Given the description of an element on the screen output the (x, y) to click on. 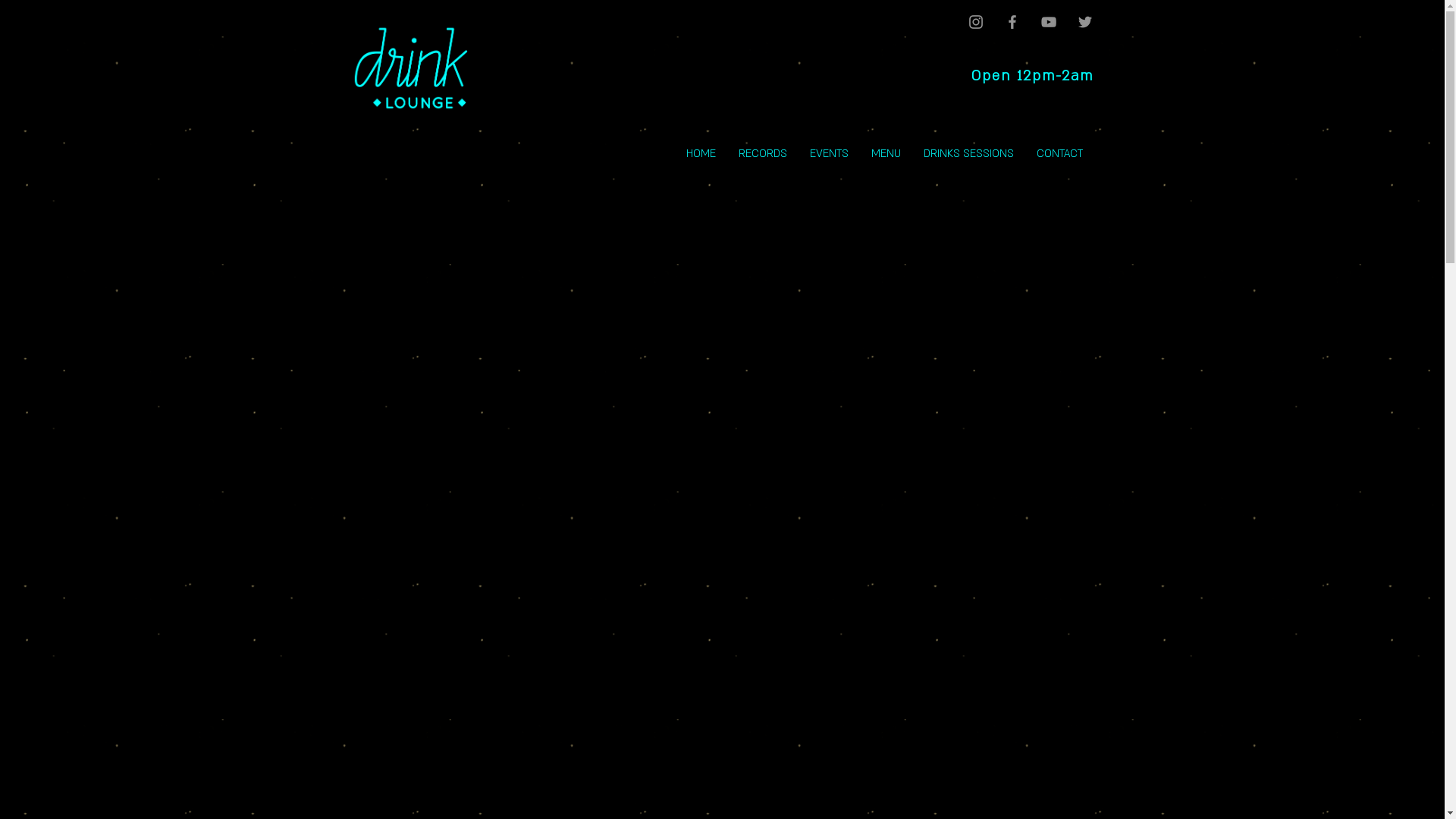
RECORDS Element type: text (761, 153)
HOME Element type: text (700, 153)
EVENTS Element type: text (828, 153)
DRINKS SESSIONS Element type: text (967, 153)
CONTACT Element type: text (1059, 153)
